Given the description of an element on the screen output the (x, y) to click on. 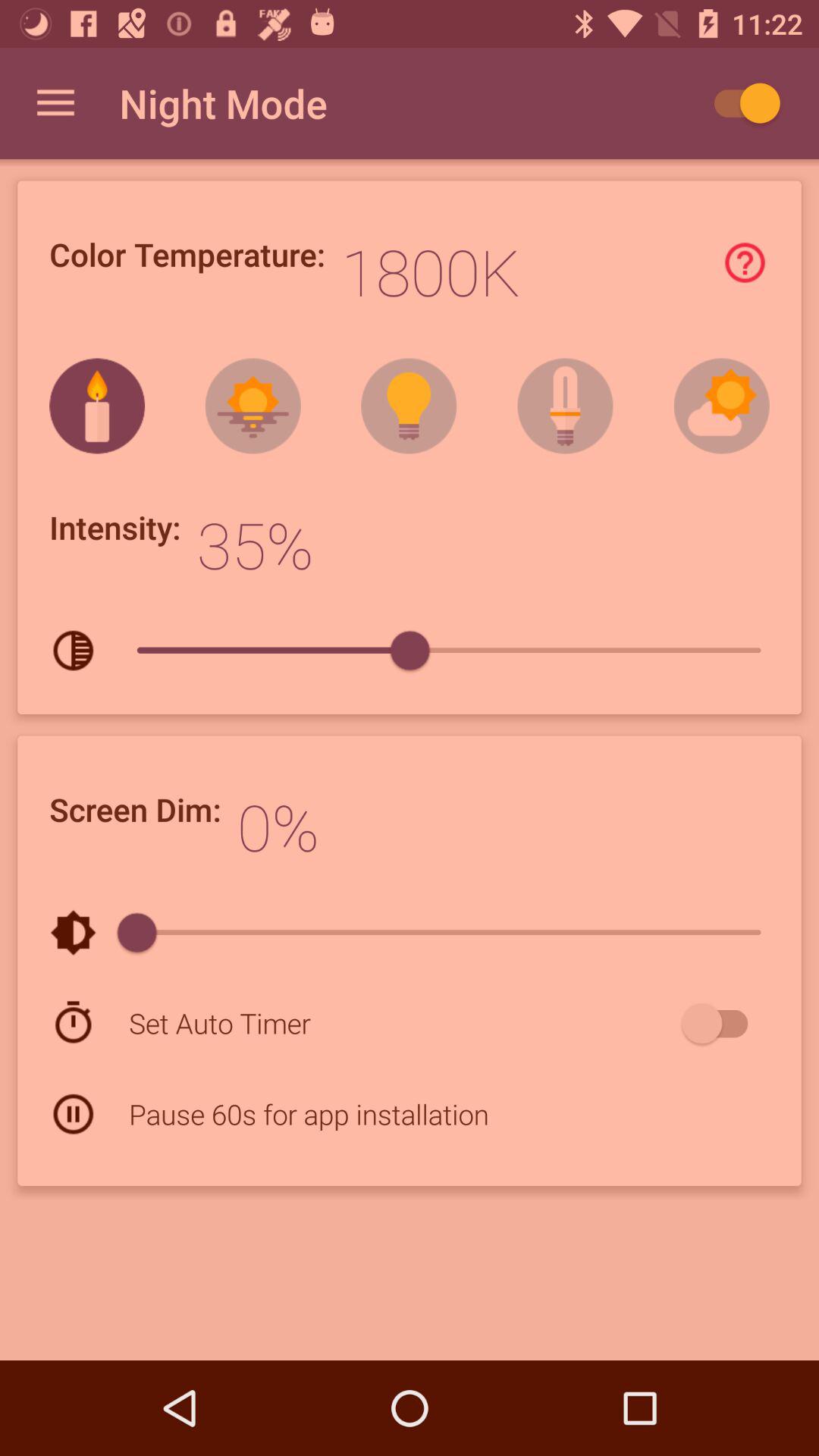
find out more information (744, 262)
